Given the description of an element on the screen output the (x, y) to click on. 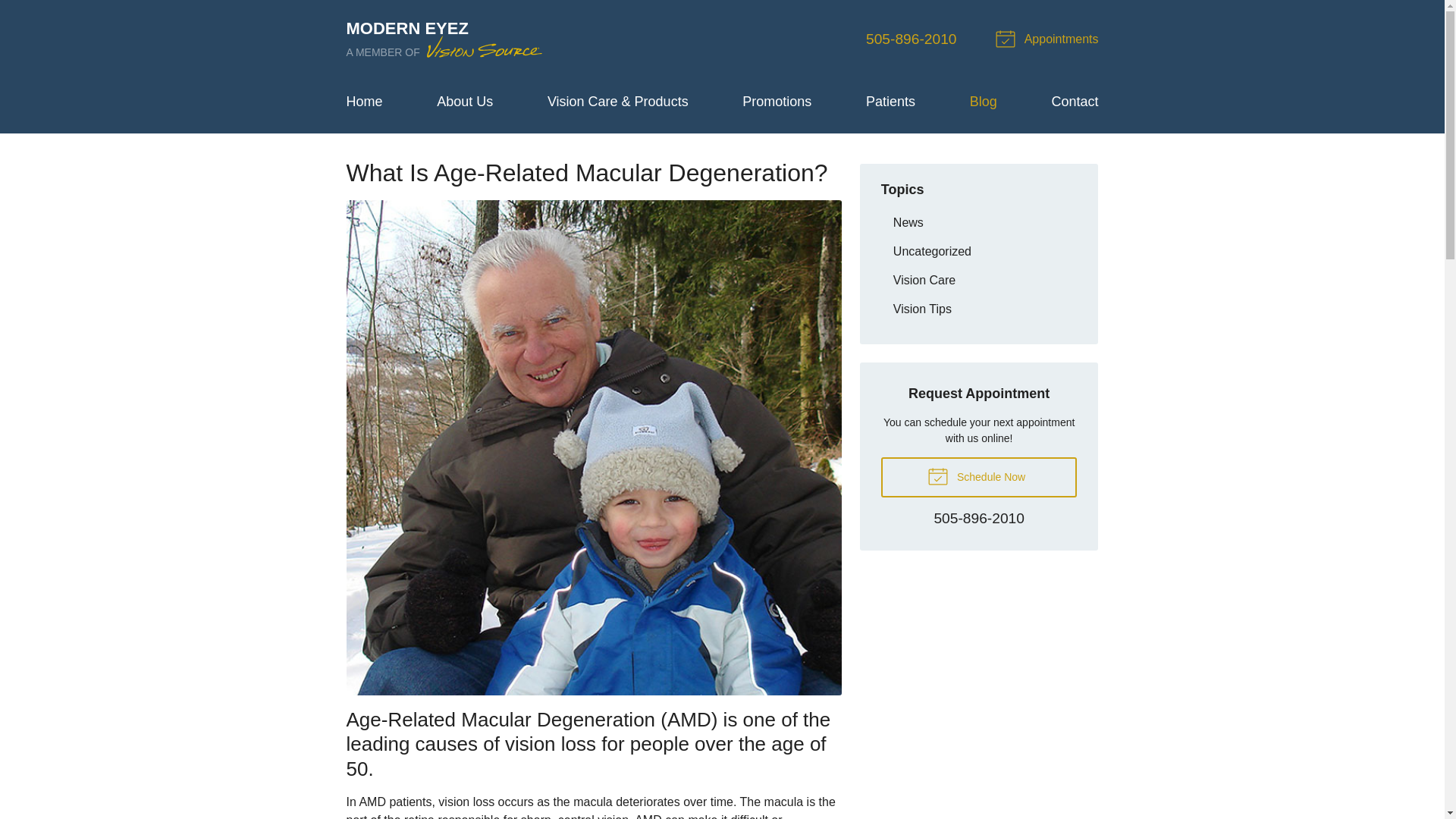
Home (363, 101)
About Us (464, 101)
Call practice (911, 38)
Promotions (776, 101)
Call practice (979, 519)
Uncategorized (978, 251)
News (978, 222)
Contact (1074, 101)
Modern Eyez (445, 39)
505-896-2010 (911, 38)
Request Appointment (445, 39)
Vision Care (1048, 39)
Patients (978, 280)
Schedule Now (890, 101)
